Given the description of an element on the screen output the (x, y) to click on. 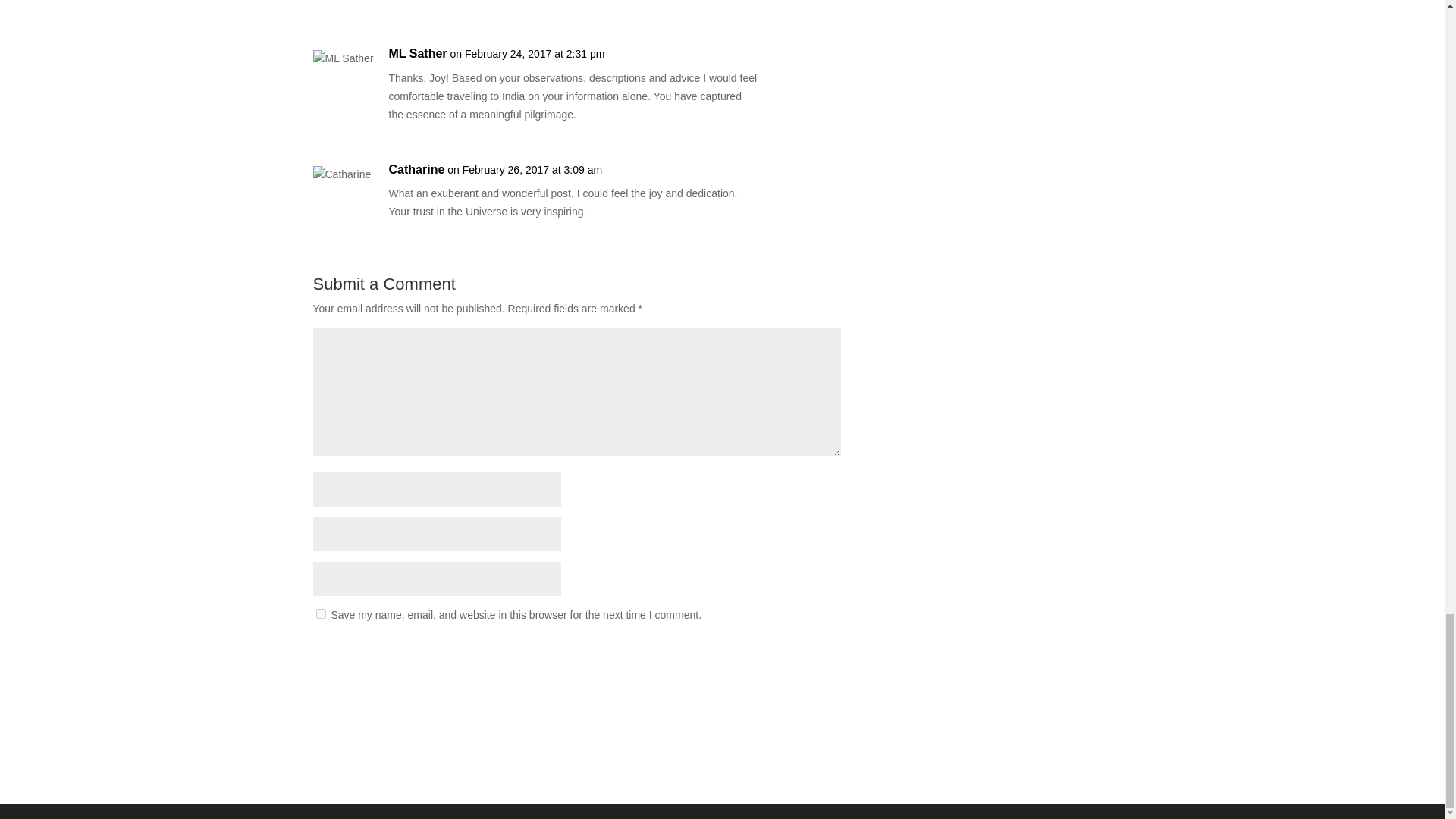
Submit Comment (765, 654)
yes (319, 614)
